Given the description of an element on the screen output the (x, y) to click on. 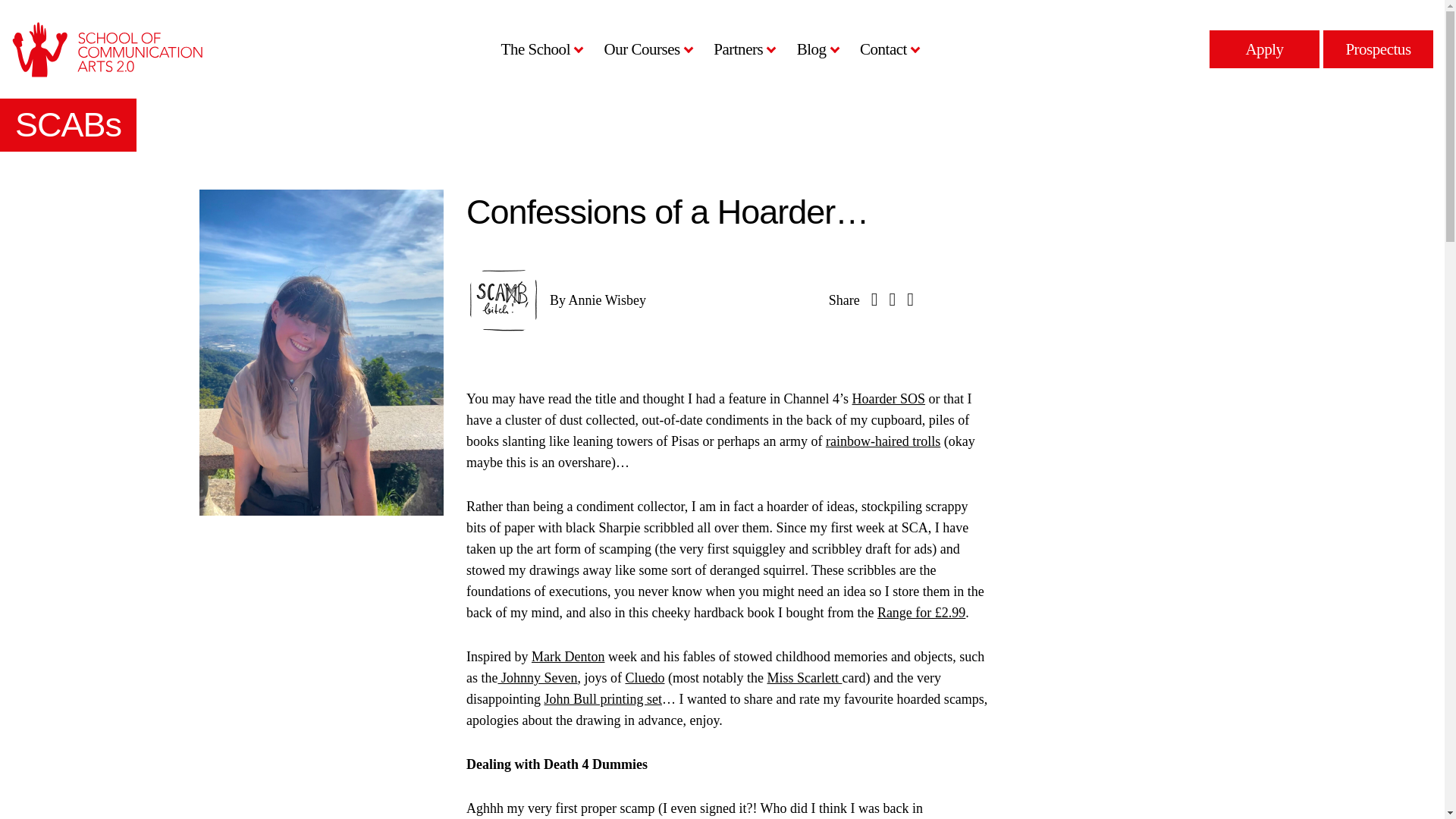
Prospectus (1377, 48)
Partners (741, 49)
Contact (887, 49)
The School (539, 49)
Blog (814, 49)
Our Courses (645, 49)
Apply (1264, 48)
